Given the description of an element on the screen output the (x, y) to click on. 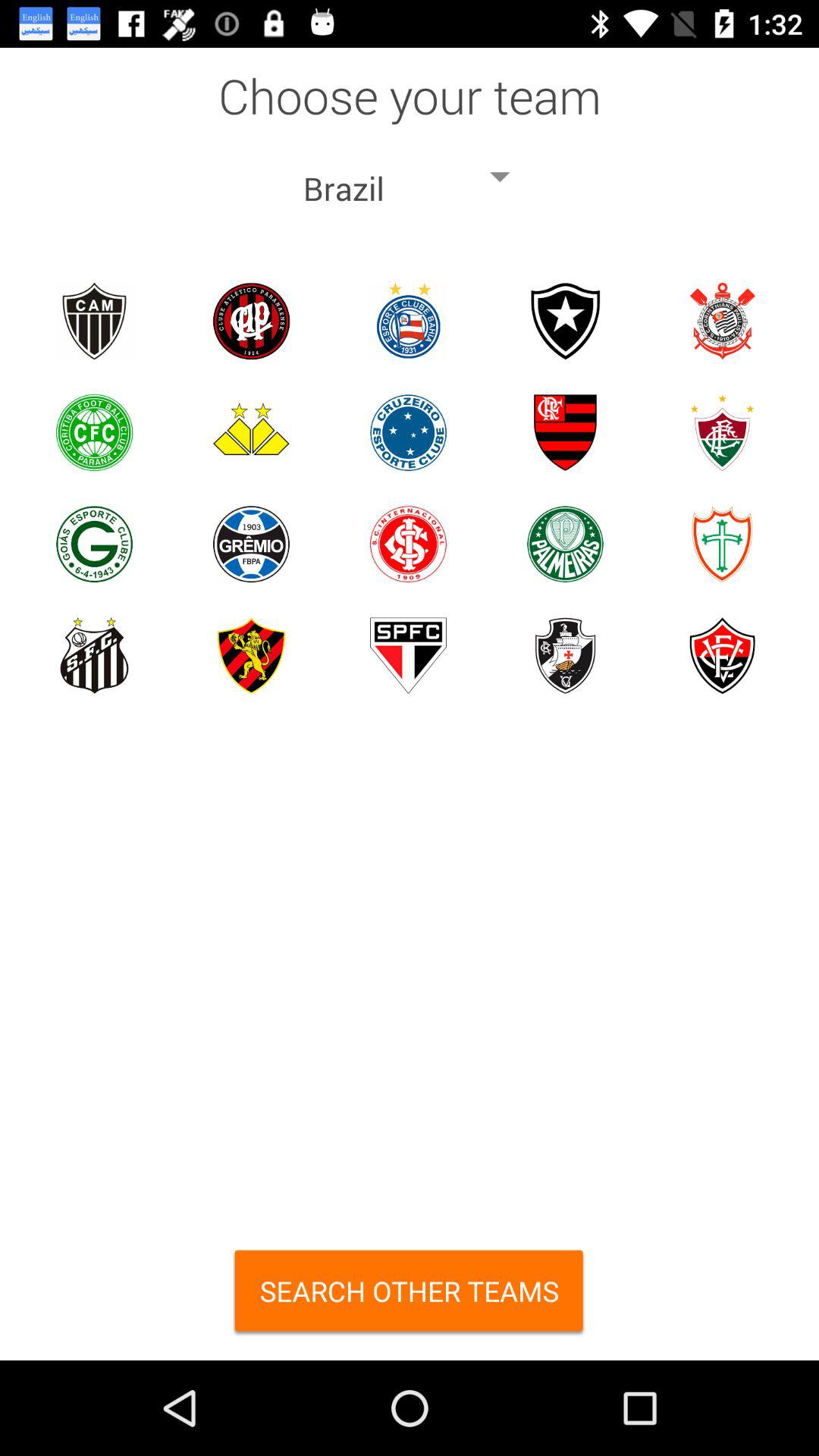
clube de regatas do flamengo (565, 432)
